Given the description of an element on the screen output the (x, y) to click on. 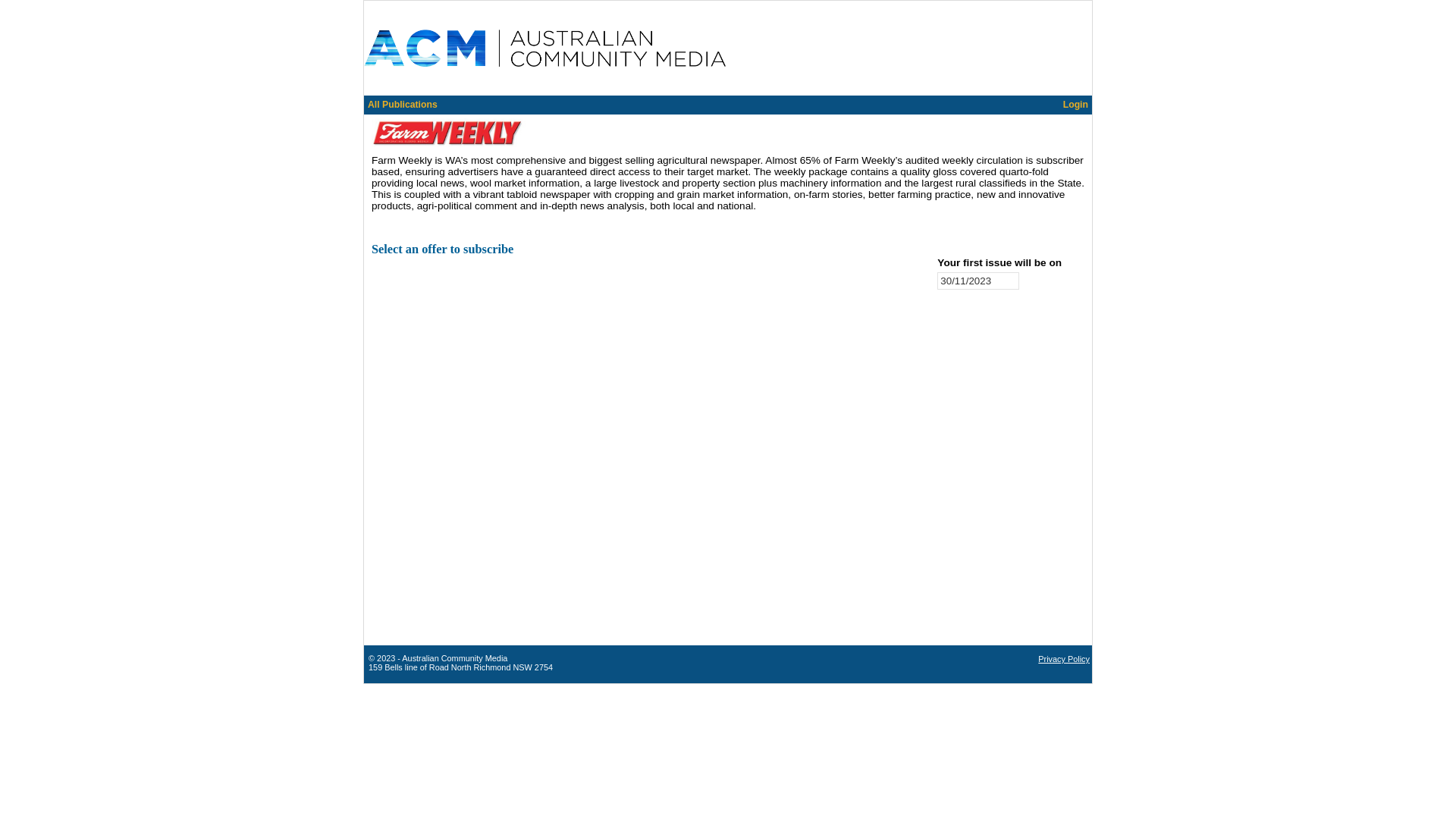
All Publications Element type: text (402, 103)
Privacy Policy Element type: text (1063, 657)
Login Element type: text (1075, 103)
